Given the description of an element on the screen output the (x, y) to click on. 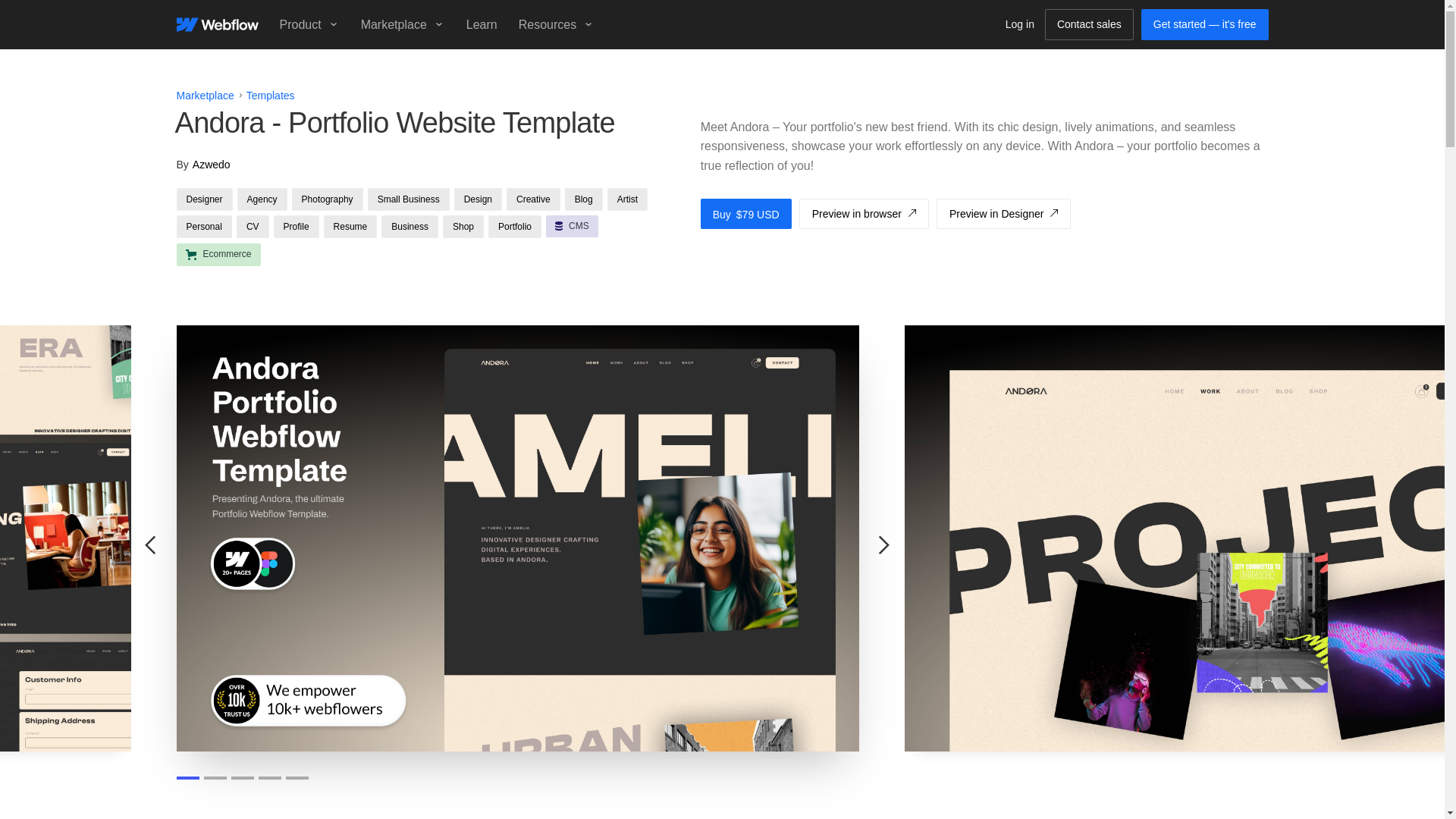
Agency (261, 199)
Log in (1019, 24)
Creative (533, 199)
Learn (481, 24)
Contact sales (1089, 24)
Azwedo (211, 164)
Templates (270, 95)
Small Business (408, 199)
Marketplace (204, 95)
Design (478, 199)
Designer (203, 199)
Photography (327, 199)
